Given the description of an element on the screen output the (x, y) to click on. 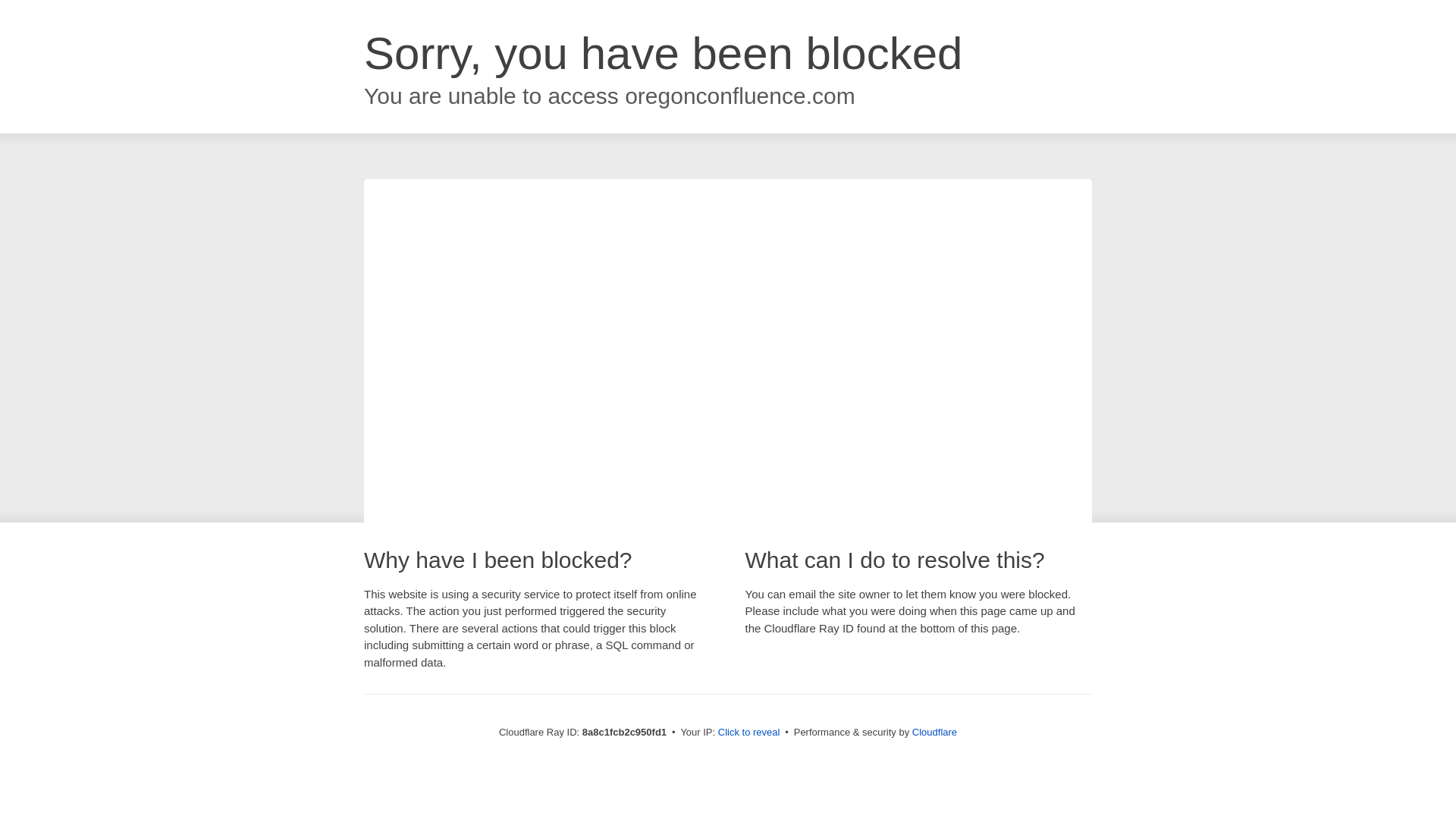
Cloudflare (934, 731)
Click to reveal (748, 732)
